Given the description of an element on the screen output the (x, y) to click on. 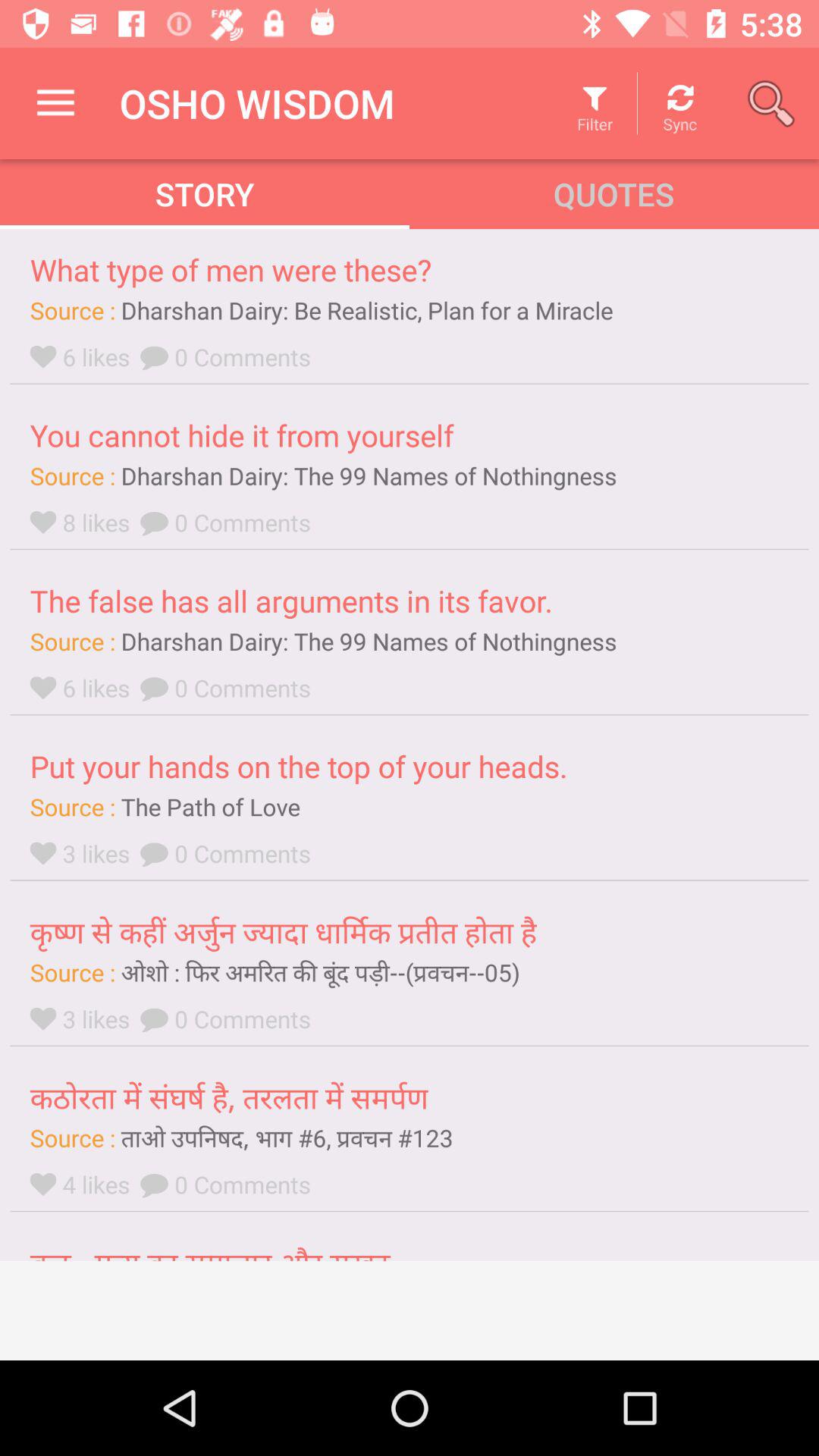
select app to the left of osho wisdom item (55, 103)
